Given the description of an element on the screen output the (x, y) to click on. 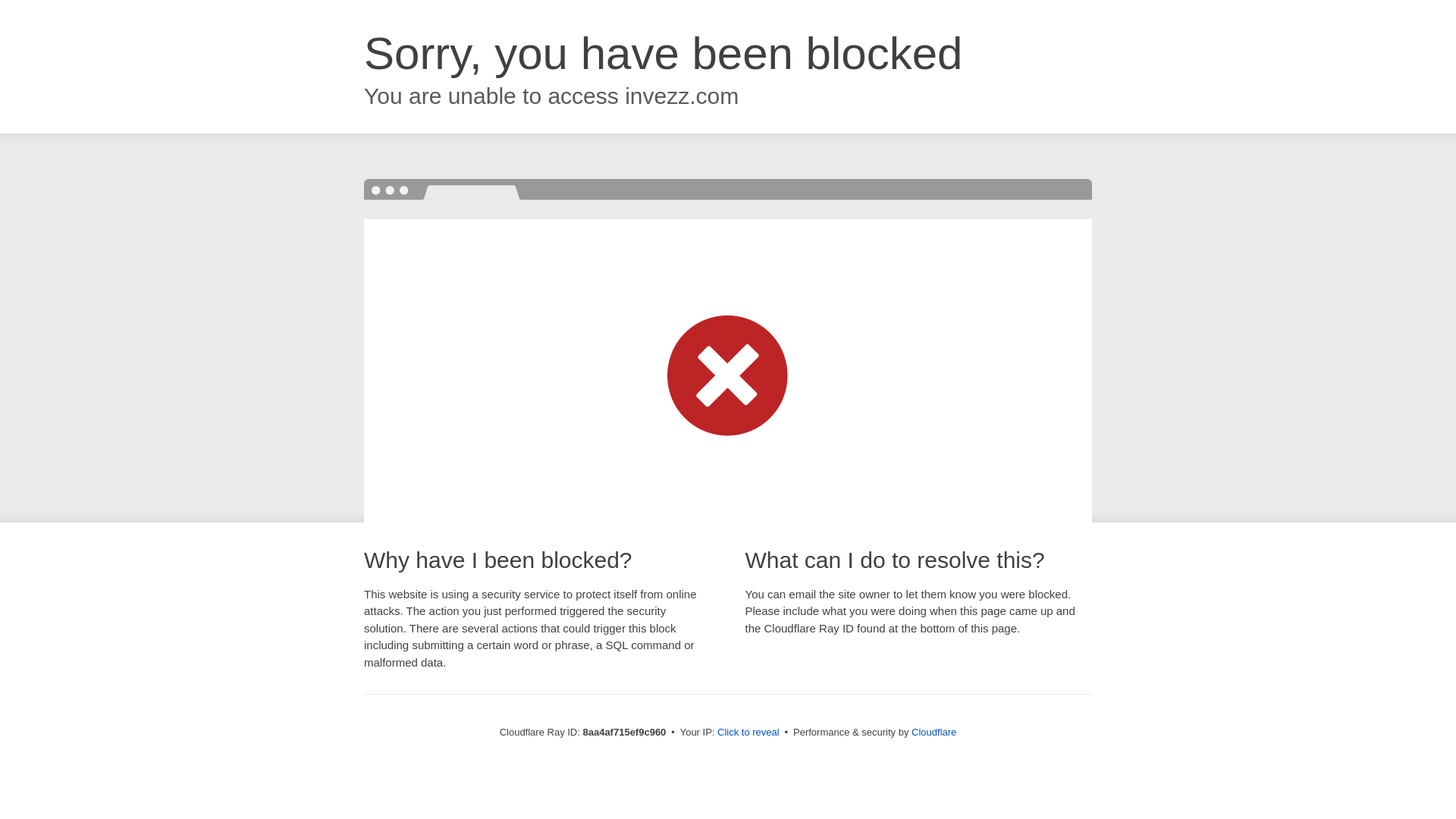
Click to reveal (747, 732)
Cloudflare (933, 731)
